Given the description of an element on the screen output the (x, y) to click on. 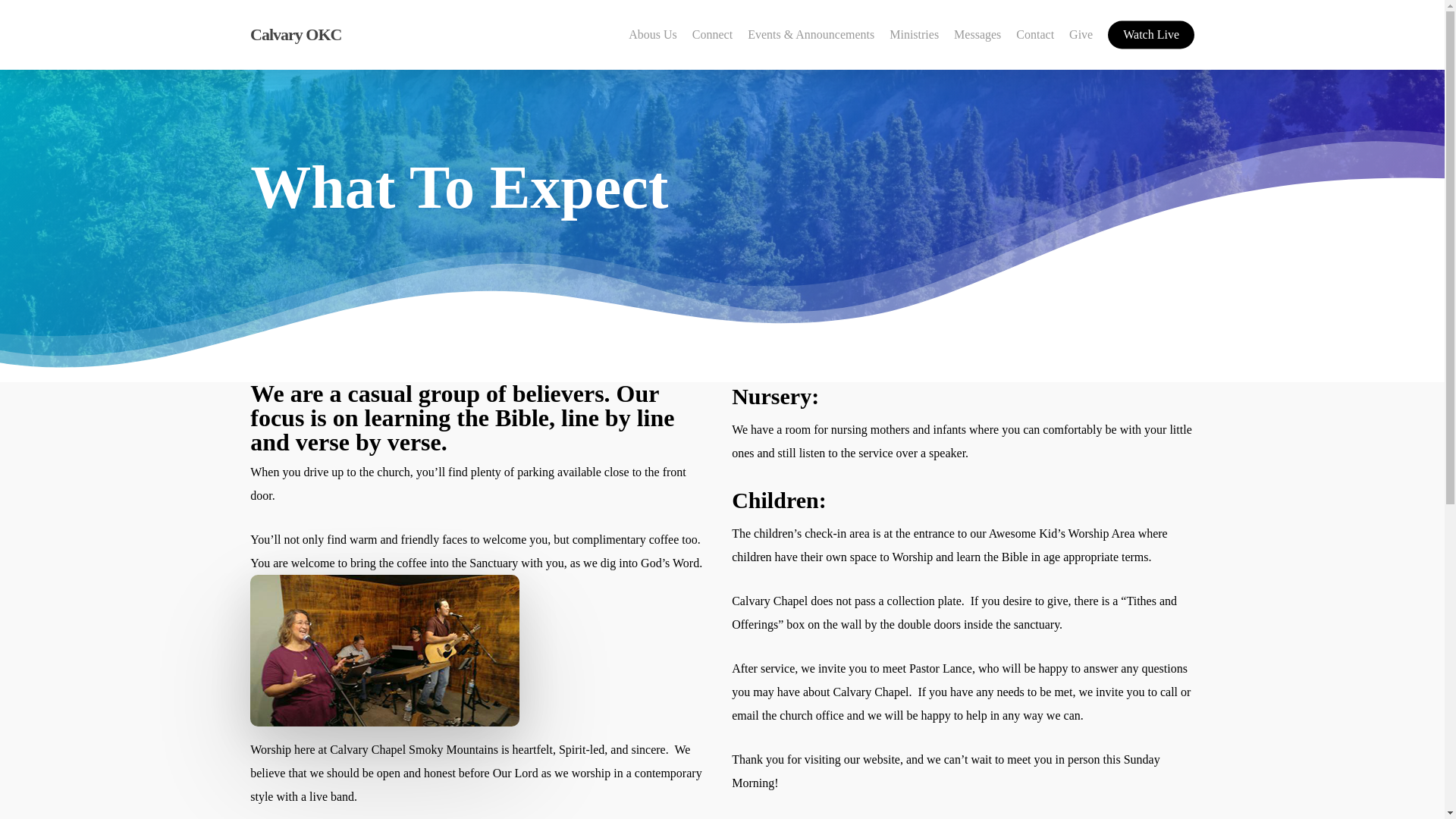
Watch Live (1150, 34)
Calvary OKC (295, 34)
Connect (712, 34)
Ministries (914, 34)
Abous Us (652, 34)
Messages (977, 34)
Contact (1035, 34)
Give (1080, 34)
